Given the description of an element on the screen output the (x, y) to click on. 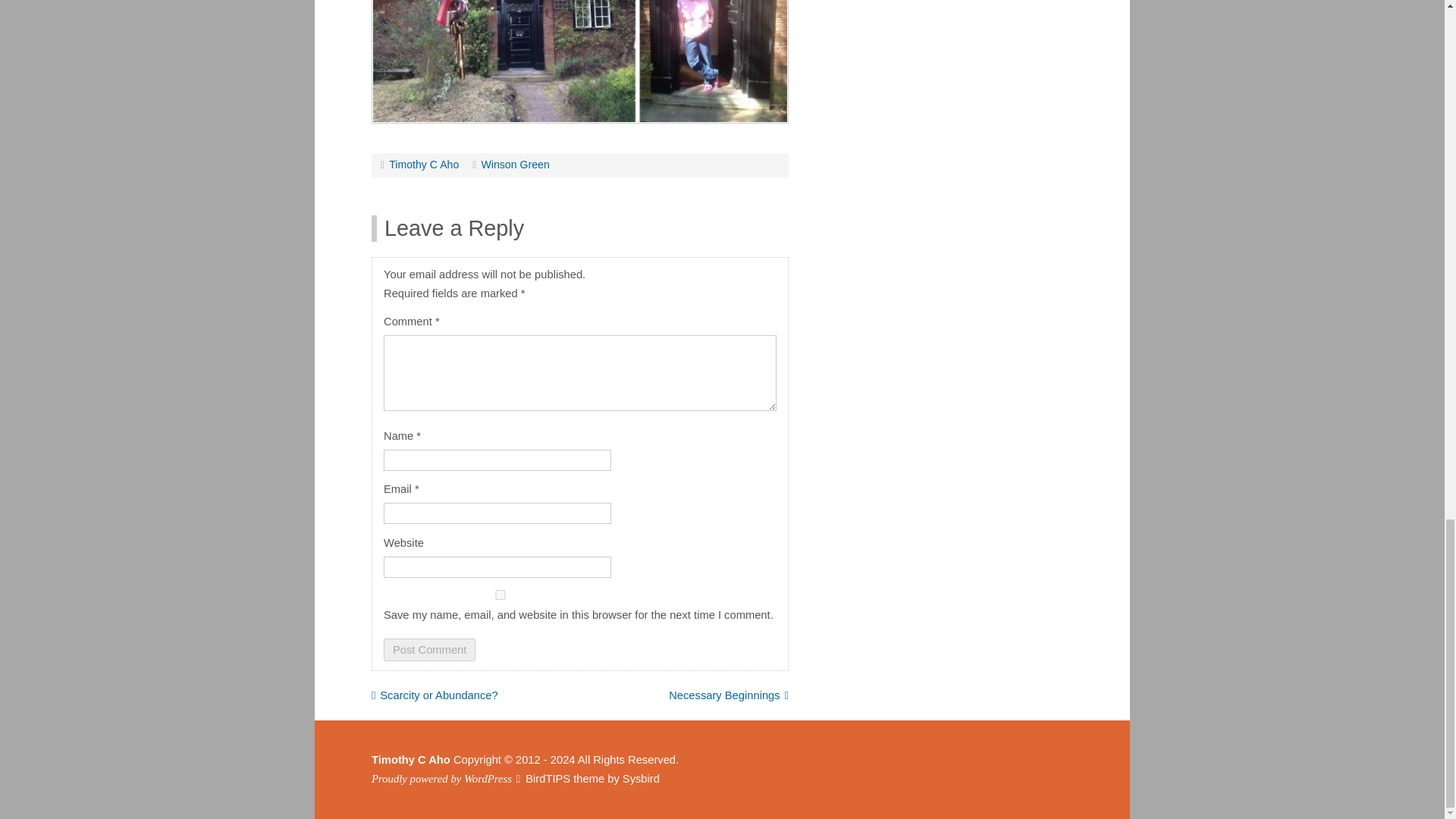
Necessary Beginnings (728, 695)
Winson Green (514, 164)
yes (500, 594)
Post Comment (430, 649)
Timothy C Aho (423, 164)
Scarcity or Abundance? (434, 695)
Post Comment (430, 649)
